Given the description of an element on the screen output the (x, y) to click on. 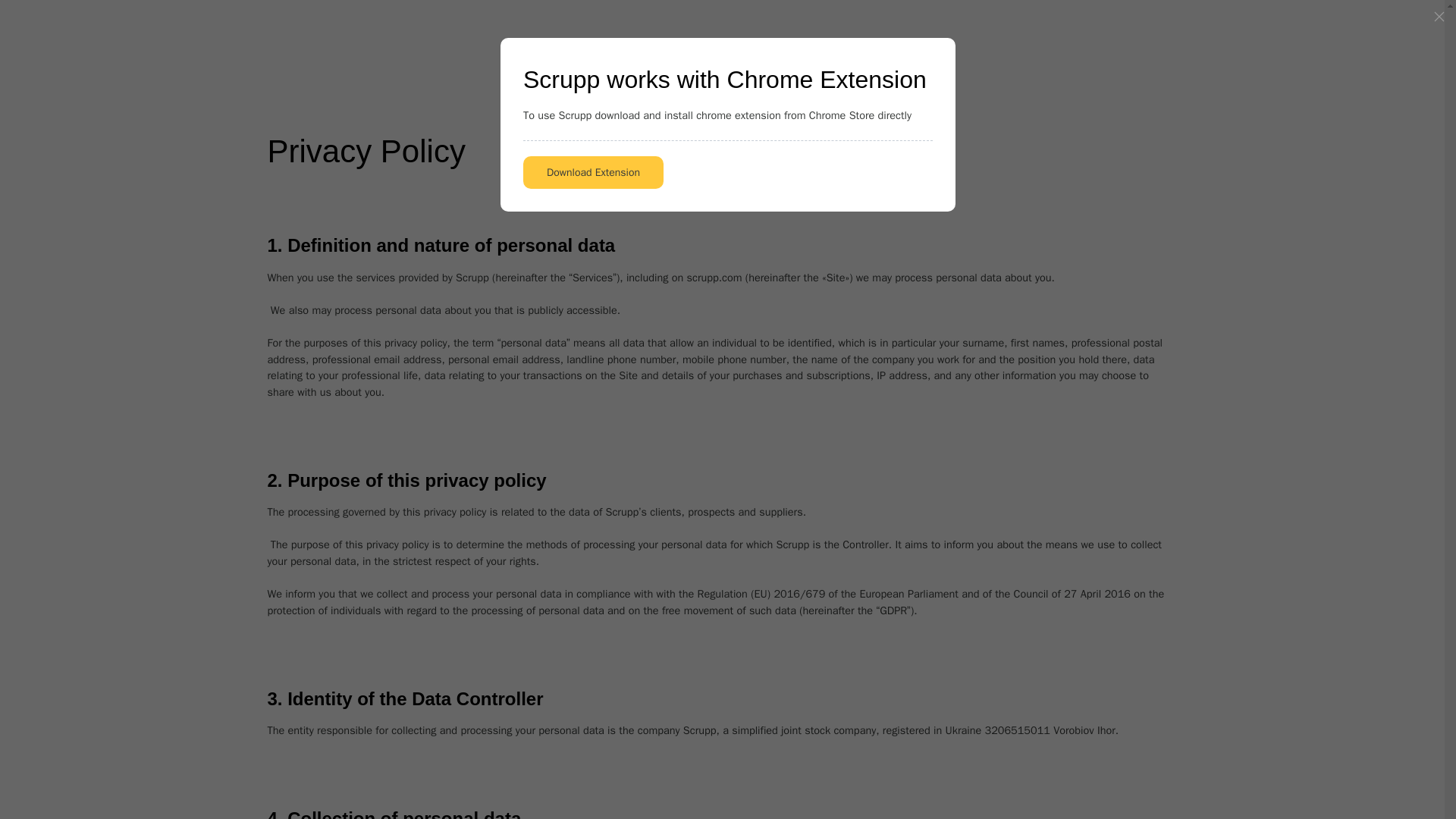
Download Extension (592, 172)
